Given the description of an element on the screen output the (x, y) to click on. 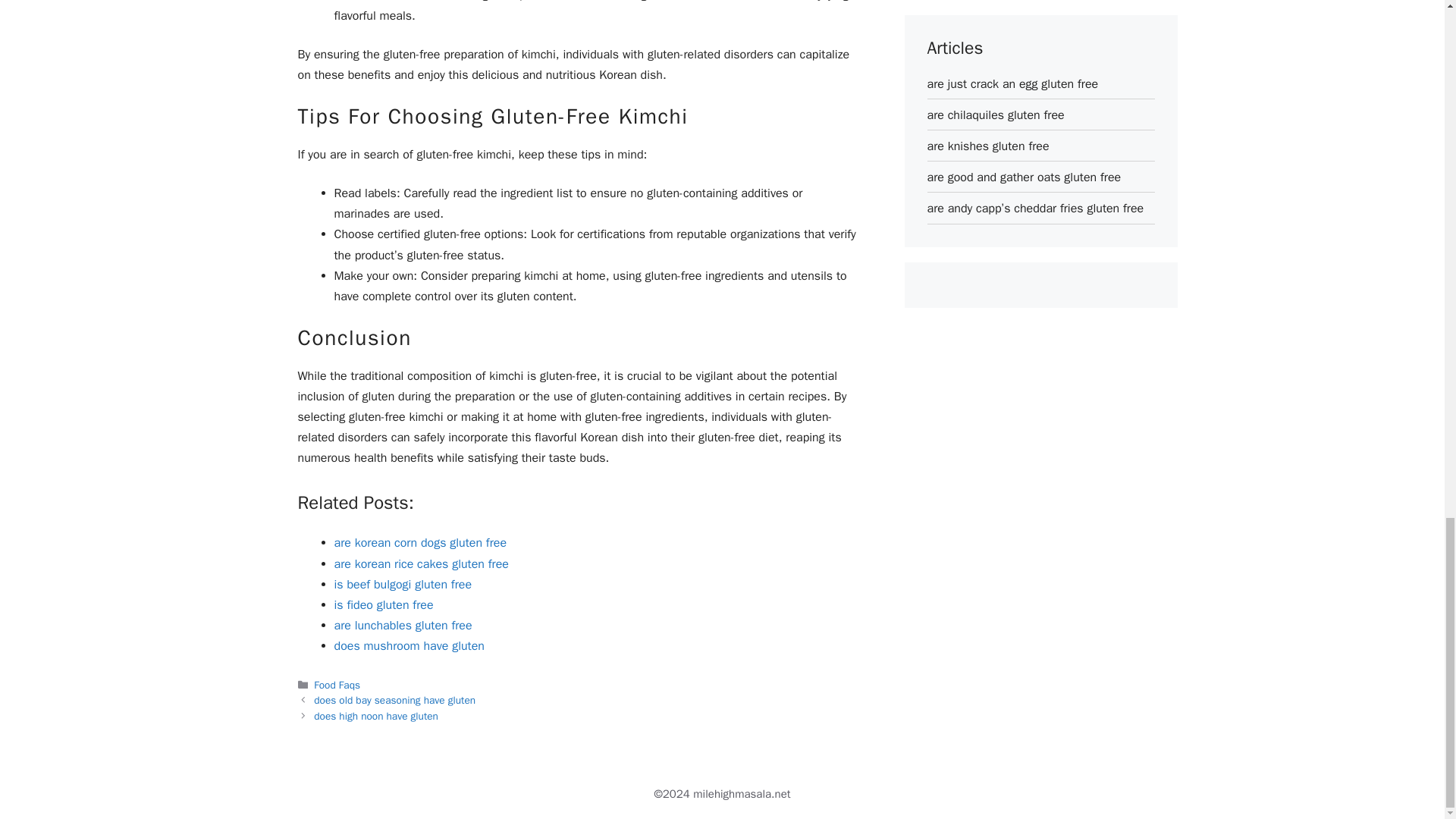
is fideo gluten free (382, 604)
does old bay seasoning have gluten (395, 699)
are korean rice cakes gluten free (420, 563)
is beef bulgogi gluten free (402, 584)
does mushroom have gluten (408, 645)
does high noon have gluten (376, 716)
are lunchables gluten free (402, 625)
are korean corn dogs gluten free (419, 542)
Food Faqs (336, 684)
